Given the description of an element on the screen output the (x, y) to click on. 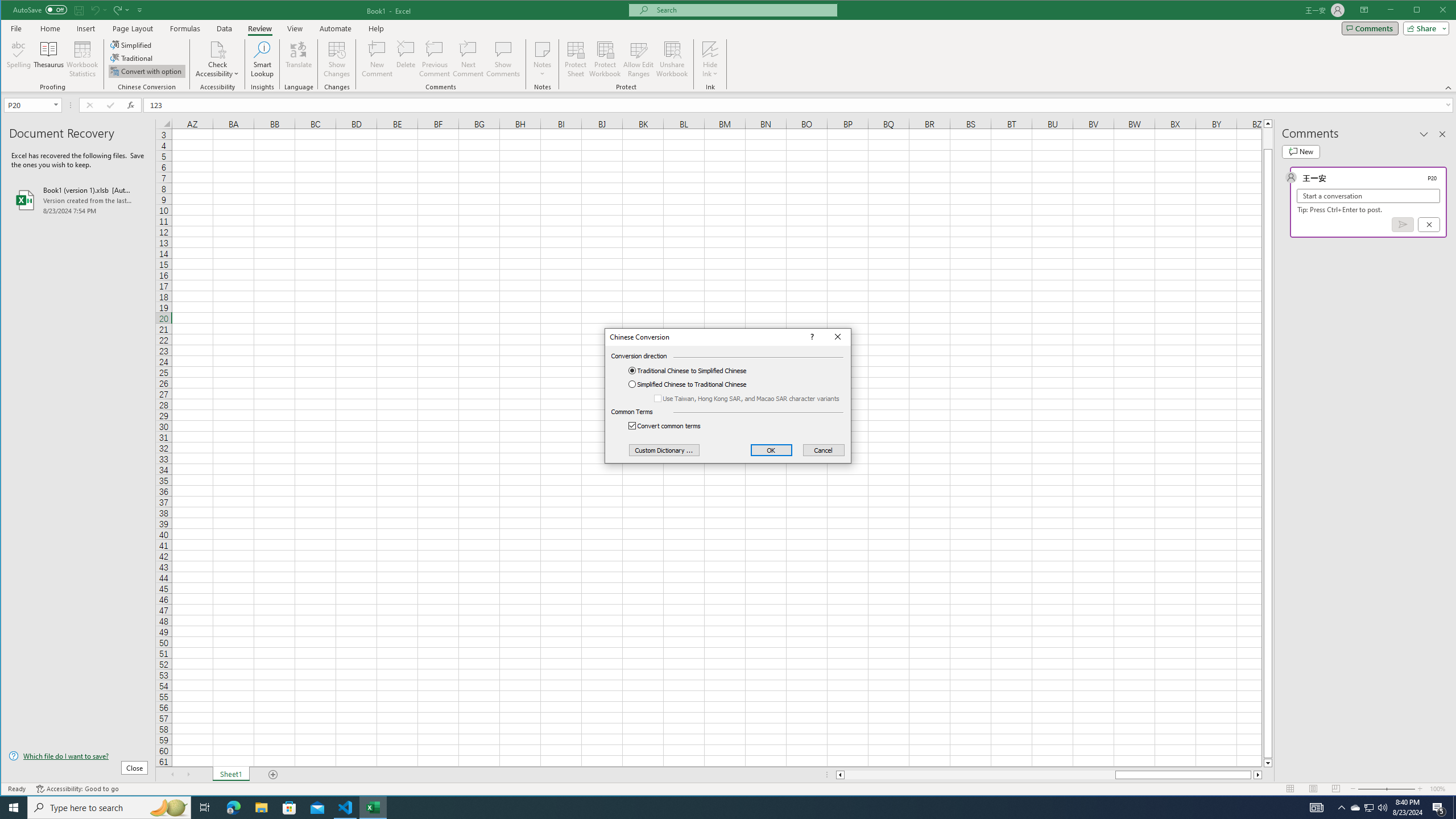
Traditional (132, 57)
Show Changes (335, 59)
